Given the description of an element on the screen output the (x, y) to click on. 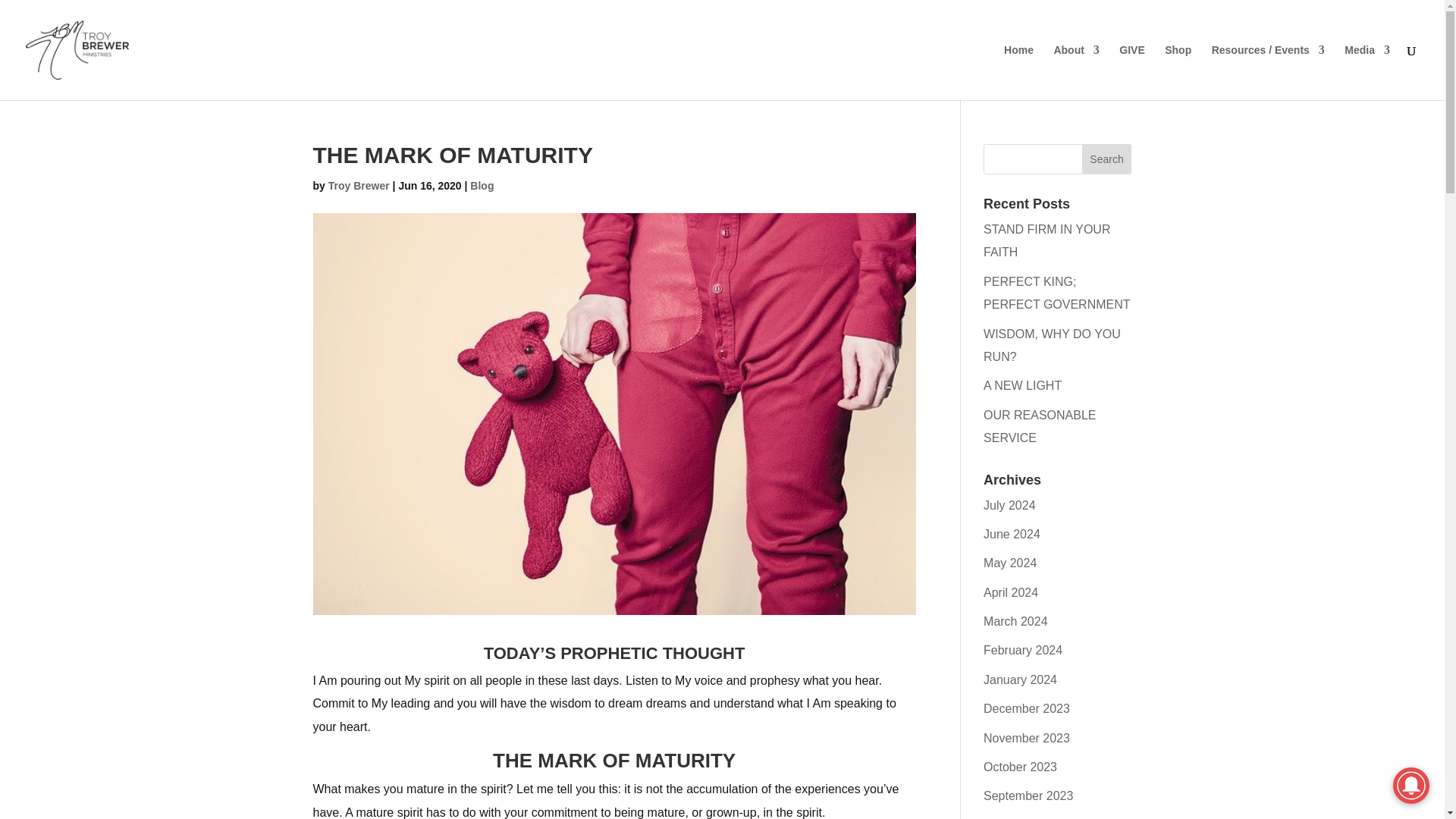
Search (1106, 159)
Shop (1177, 72)
Home (1018, 72)
Media (1366, 72)
Posts by Troy Brewer (359, 185)
About (1075, 72)
GIVE (1131, 72)
